Given the description of an element on the screen output the (x, y) to click on. 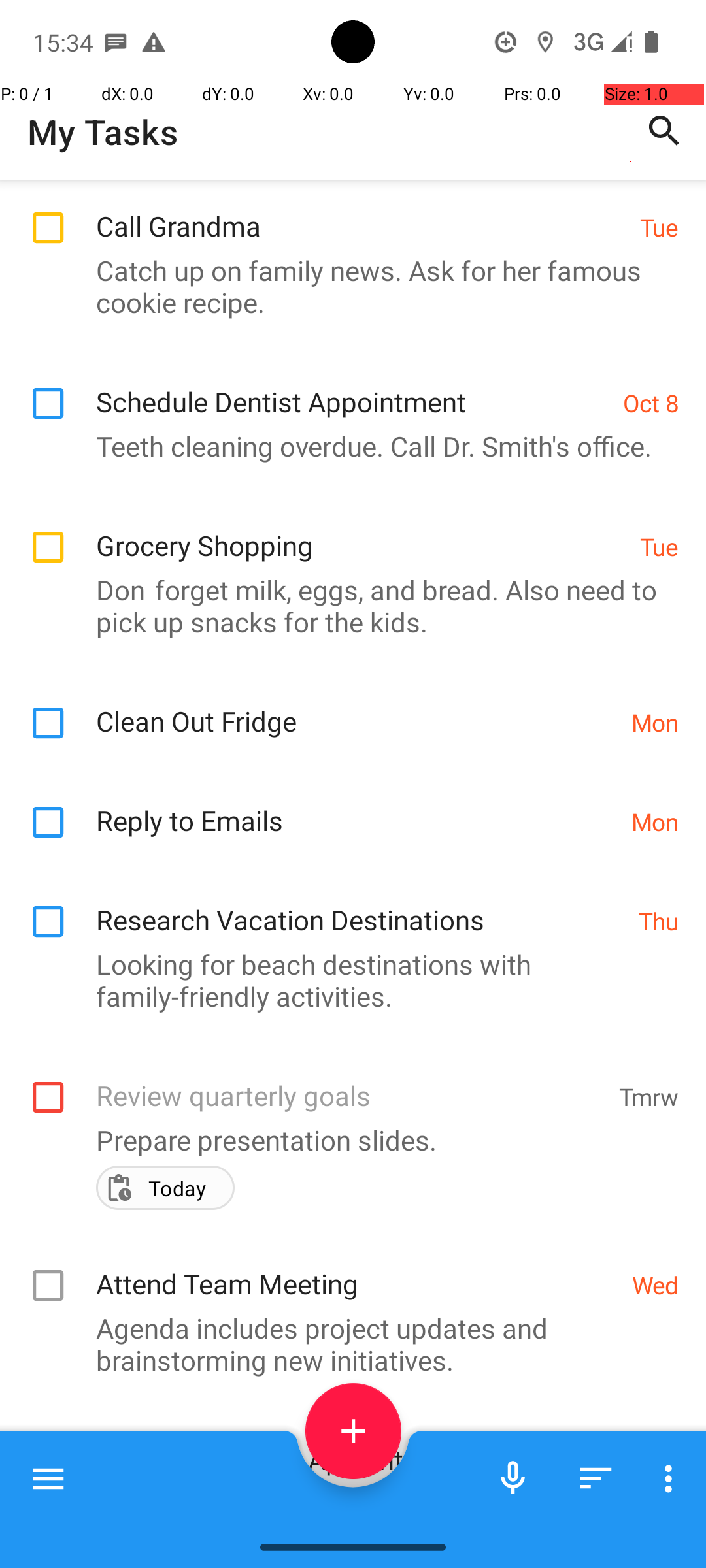
Call Grandma Element type: android.widget.TextView (361, 211)
Catch up on family news. Ask for her famous cookie recipe. Element type: android.widget.TextView (346, 285)
Schedule Dentist Appointment Element type: android.widget.TextView (352, 387)
Teeth cleaning overdue. Call Dr. Smith's office. Element type: android.widget.TextView (346, 445)
Oct 8 Element type: android.widget.TextView (650, 402)
Don	 forget milk, eggs, and bread. Also need to pick up snacks for the kids. Element type: android.widget.TextView (346, 605)
Research Vacation Destinations Element type: android.widget.TextView (360, 905)
Looking for beach destinations with family-friendly activities. Element type: android.widget.TextView (346, 979)
Review quarterly goals Element type: android.widget.TextView (350, 1081)
Prepare presentation slides. Element type: android.widget.TextView (346, 1139)
Agenda includes project updates and brainstorming new initiatives. Element type: android.widget.TextView (346, 1343)
